Given the description of an element on the screen output the (x, y) to click on. 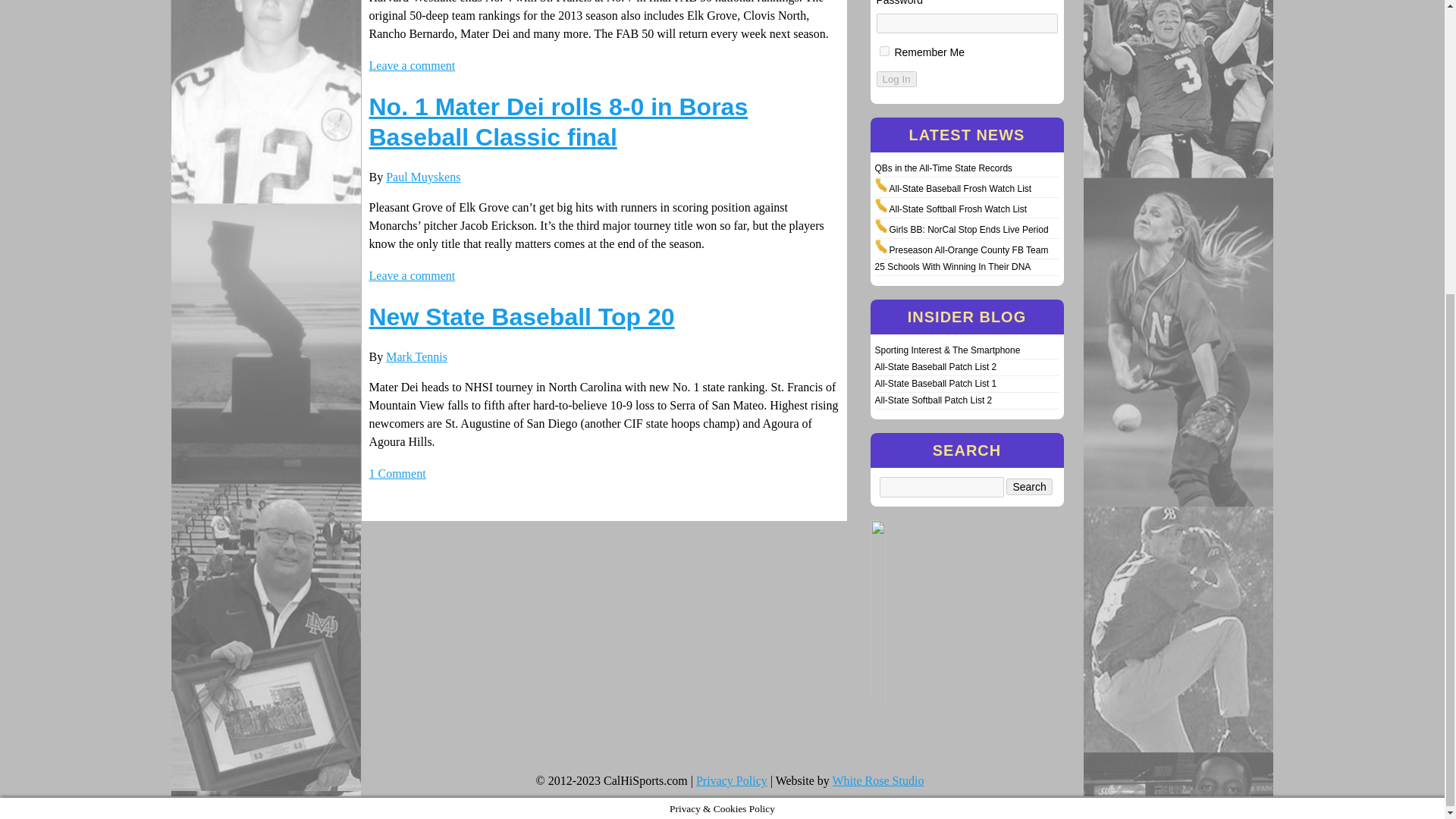
Permalink to QBs in the All-Time State Records (944, 167)
Permalink to All-State Baseball Frosh Watch List (959, 188)
forever (884, 50)
Permalink to All-State Baseball Patch List 2 (936, 366)
Permalink to Preseason All-Orange County FB Team (968, 249)
Permalink to New State Baseball Top 20 (521, 316)
Search (1028, 486)
Permalink to 25 Schools With Winning In Their DNA (952, 266)
Permalink to All-State Softball Frosh Watch List (957, 208)
View all posts by Paul Muyskens (422, 176)
View all posts by Mark Tennis (415, 356)
Permalink to Girls BB: NorCal Stop Ends Live Period (968, 229)
